Given the description of an element on the screen output the (x, y) to click on. 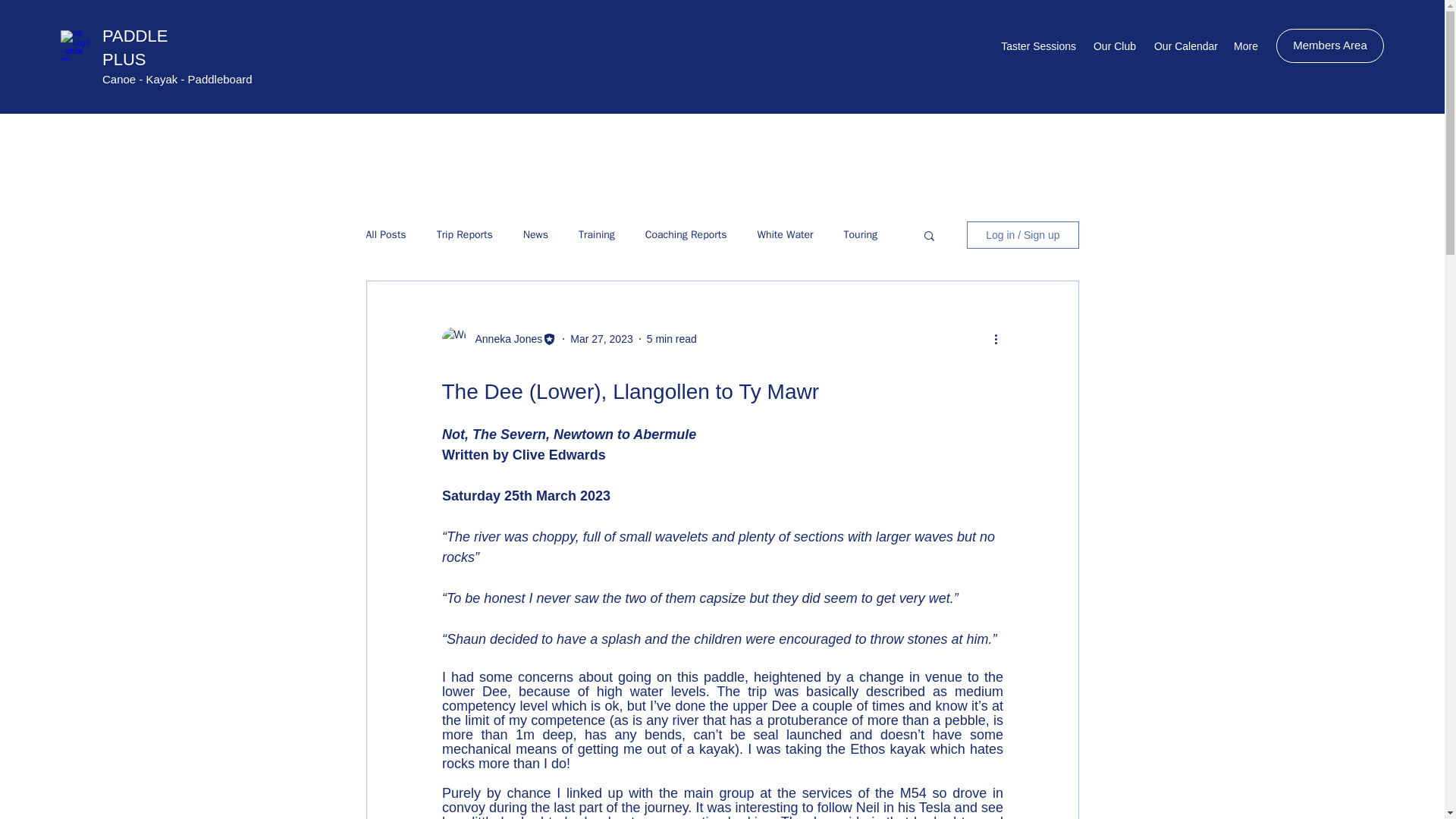
Anneka Jones (503, 339)
PADDLEPLUS (134, 47)
5 min read (671, 338)
News (535, 234)
All Posts (385, 234)
Mar 27, 2023 (601, 338)
Touring (860, 234)
Members Area (1330, 45)
Trip Reports (464, 234)
Our Calendar (1183, 46)
